Given the description of an element on the screen output the (x, y) to click on. 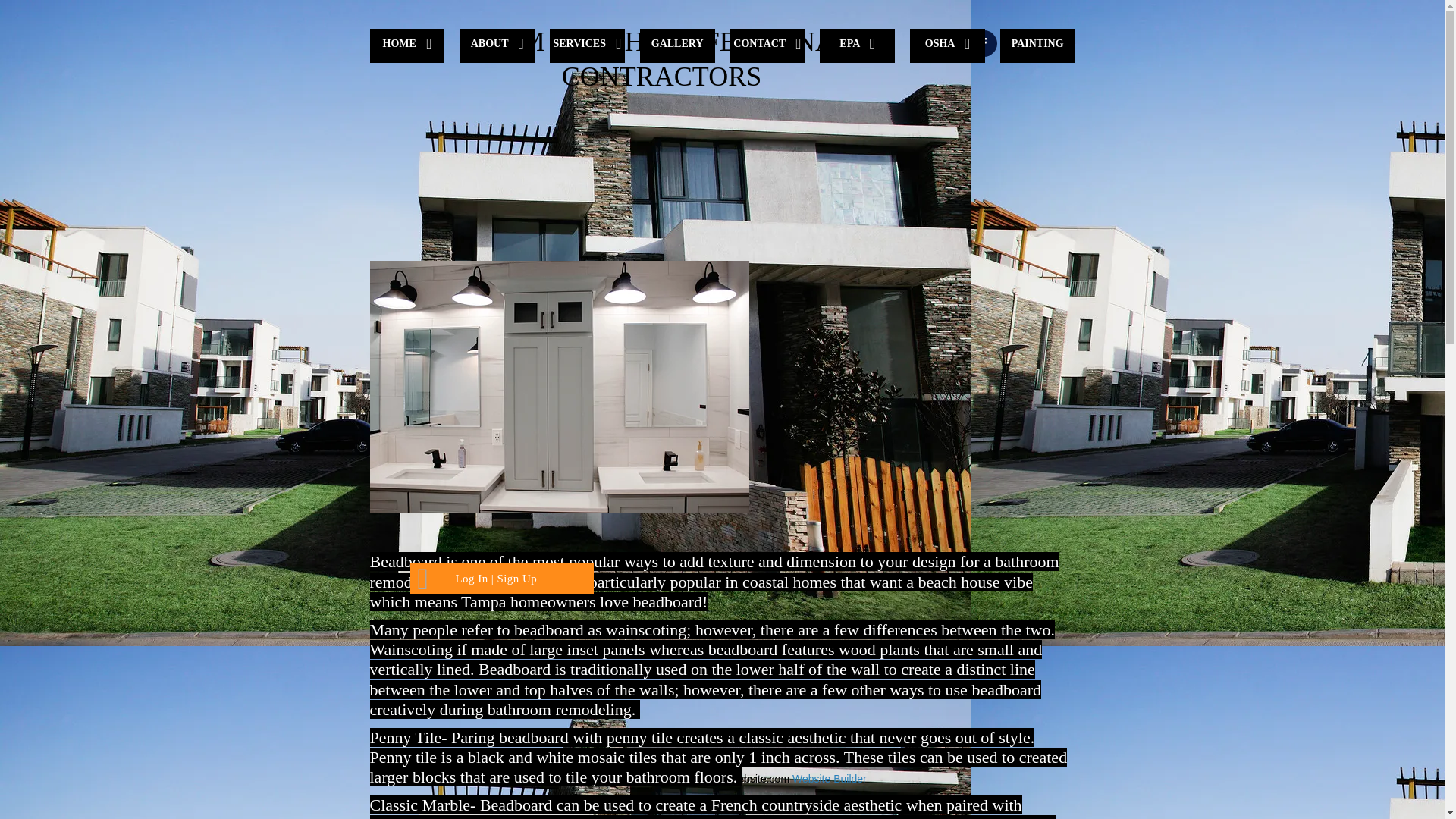
CONTACT (767, 45)
PAINTING (1037, 45)
EPA (857, 45)
HOME (407, 45)
OSHA (947, 45)
ABOUT (497, 45)
GALLERY (677, 45)
SERVICES (587, 45)
